Given the description of an element on the screen output the (x, y) to click on. 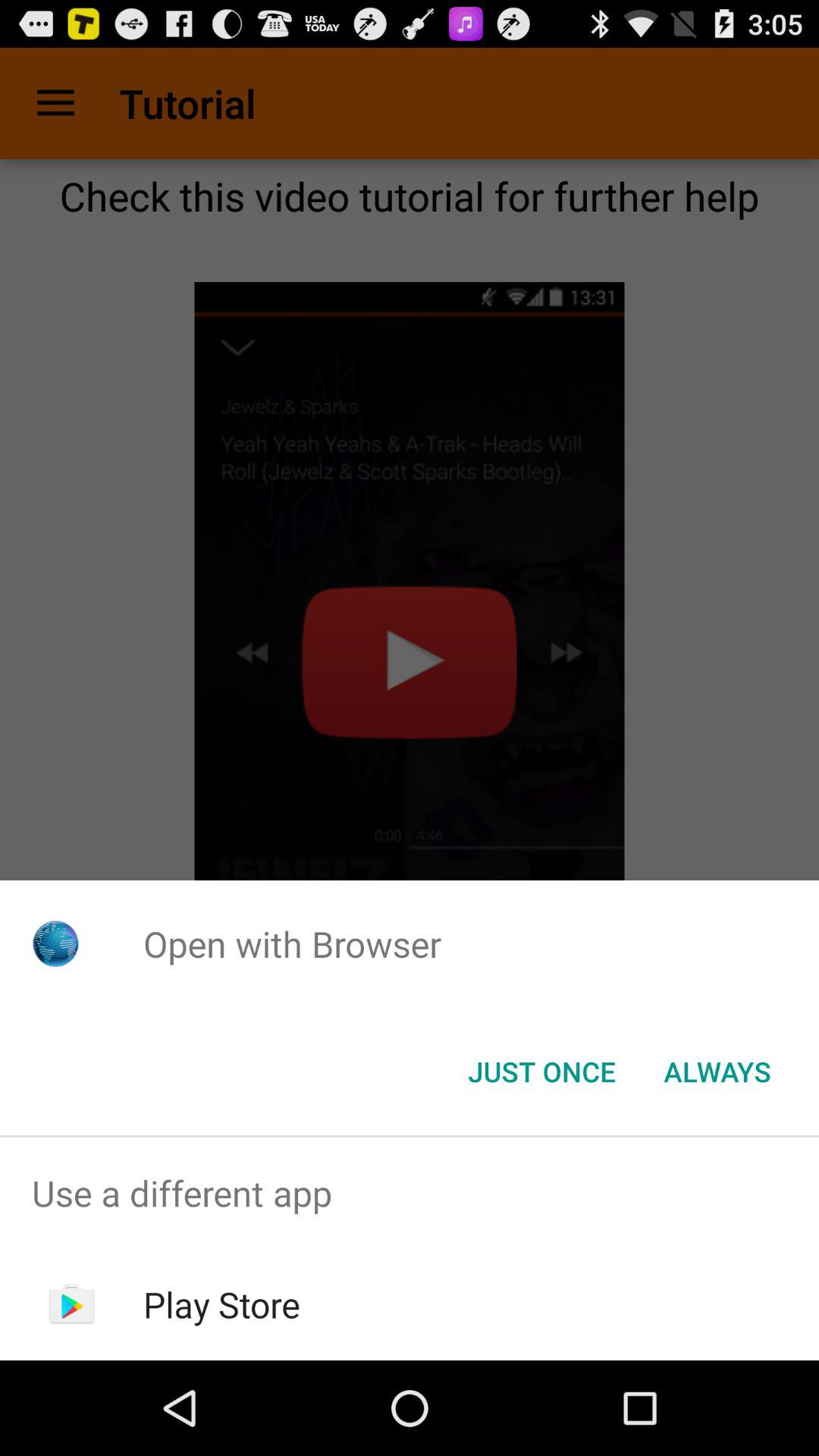
flip until play store item (221, 1304)
